Given the description of an element on the screen output the (x, y) to click on. 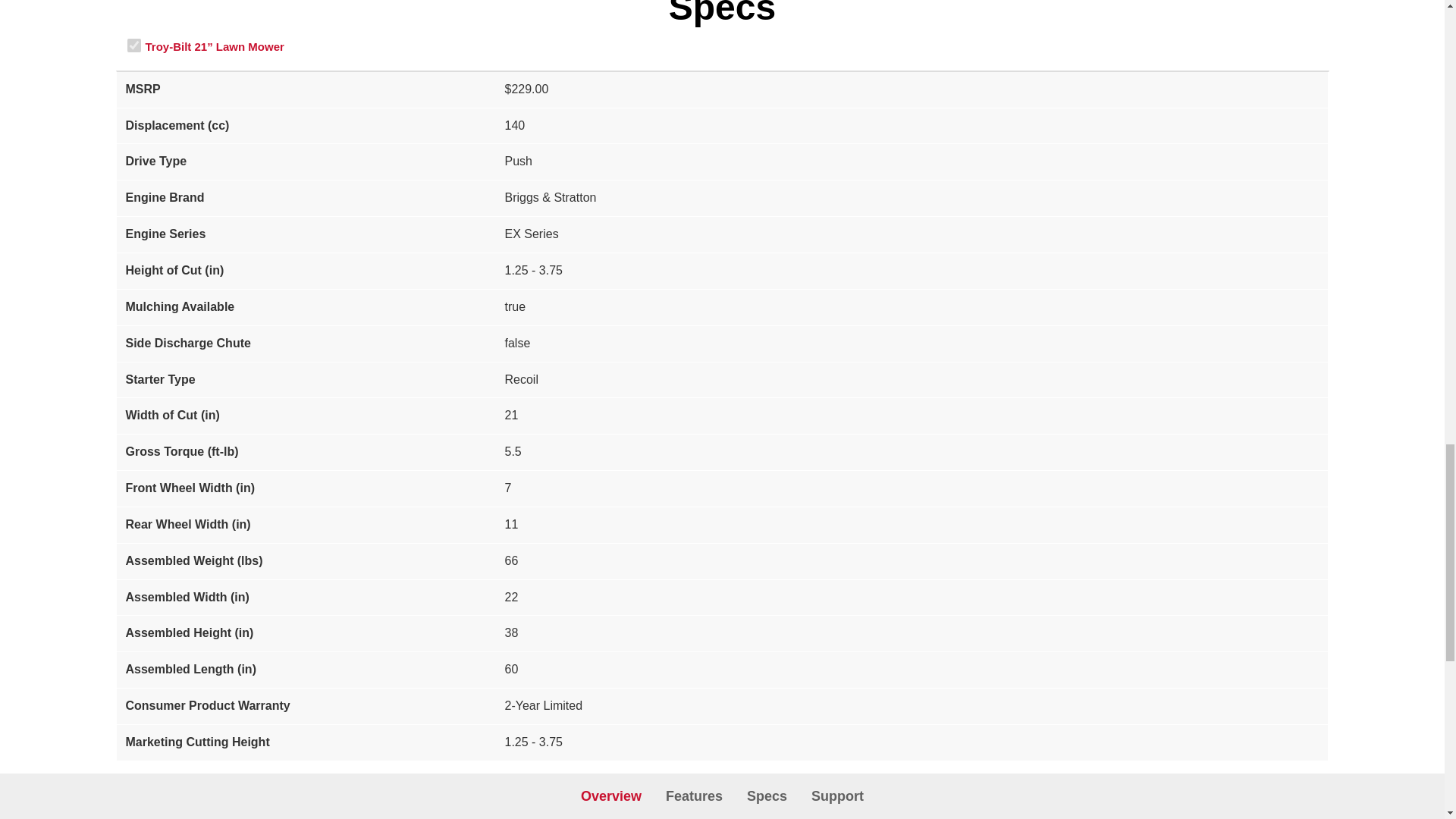
043033587896 (134, 45)
